Given the description of an element on the screen output the (x, y) to click on. 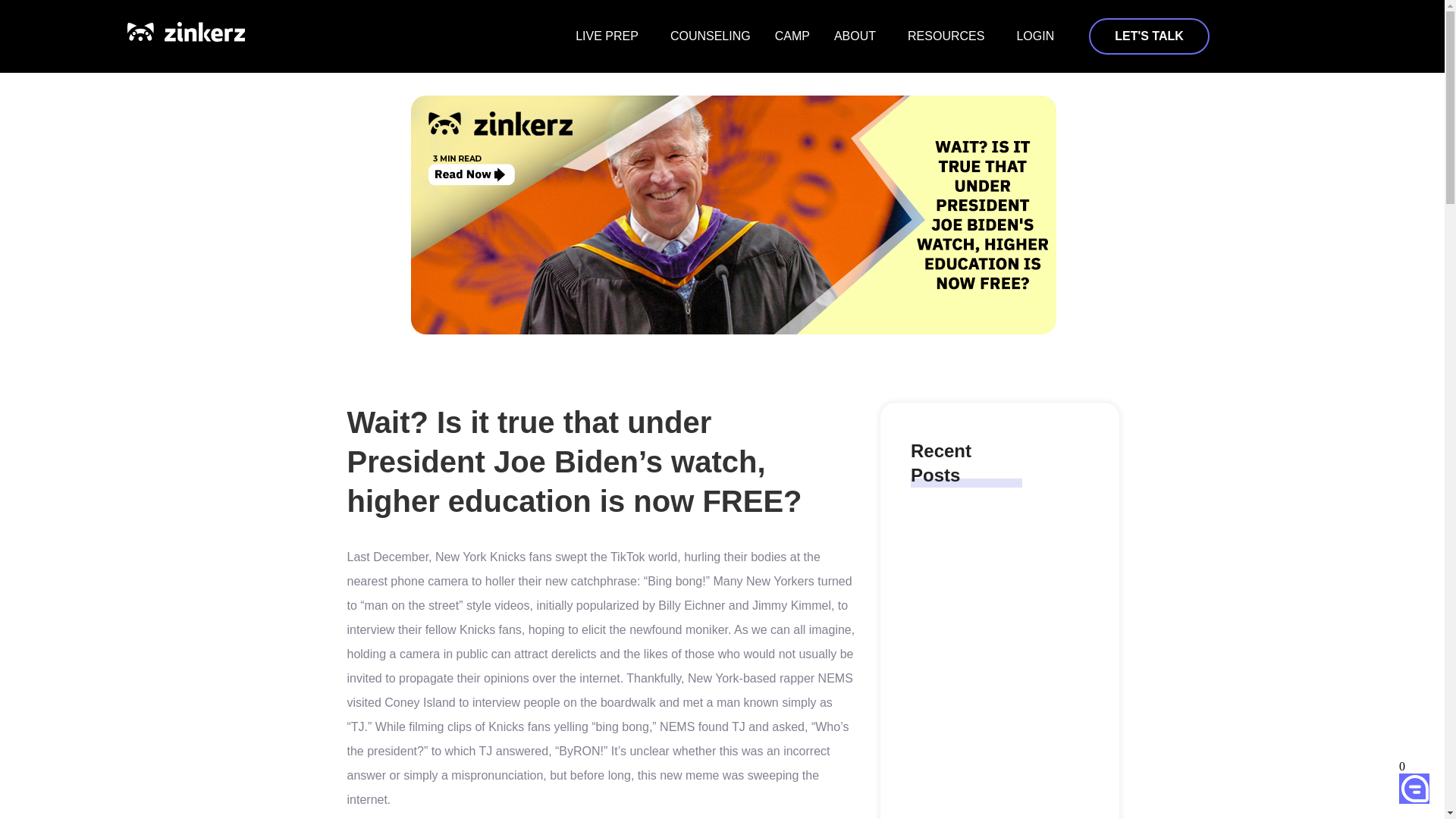
ABOUT (858, 36)
LET'S TALK (1149, 36)
CAMP (792, 36)
RESOURCES (949, 36)
COUNSELING (710, 36)
LIVE PREP (610, 36)
LOGIN (1034, 36)
Front Chat (1405, 783)
